Given the description of an element on the screen output the (x, y) to click on. 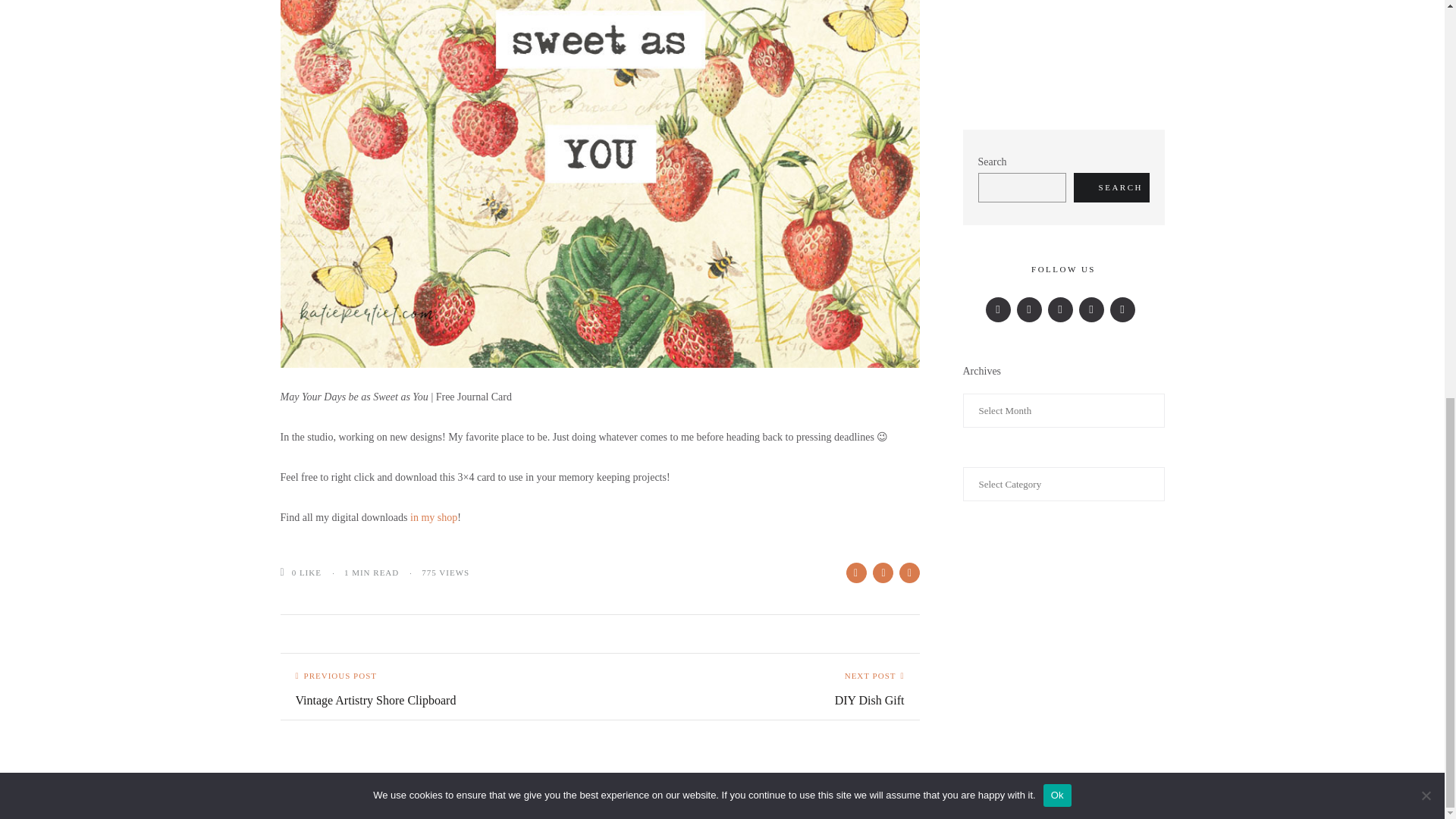
Ok (1057, 20)
No (1425, 20)
in my shop (433, 517)
Share to Facebook (855, 572)
I like this (286, 572)
Share to Pinterest (877, 686)
Share to Twitter (369, 686)
